Given the description of an element on the screen output the (x, y) to click on. 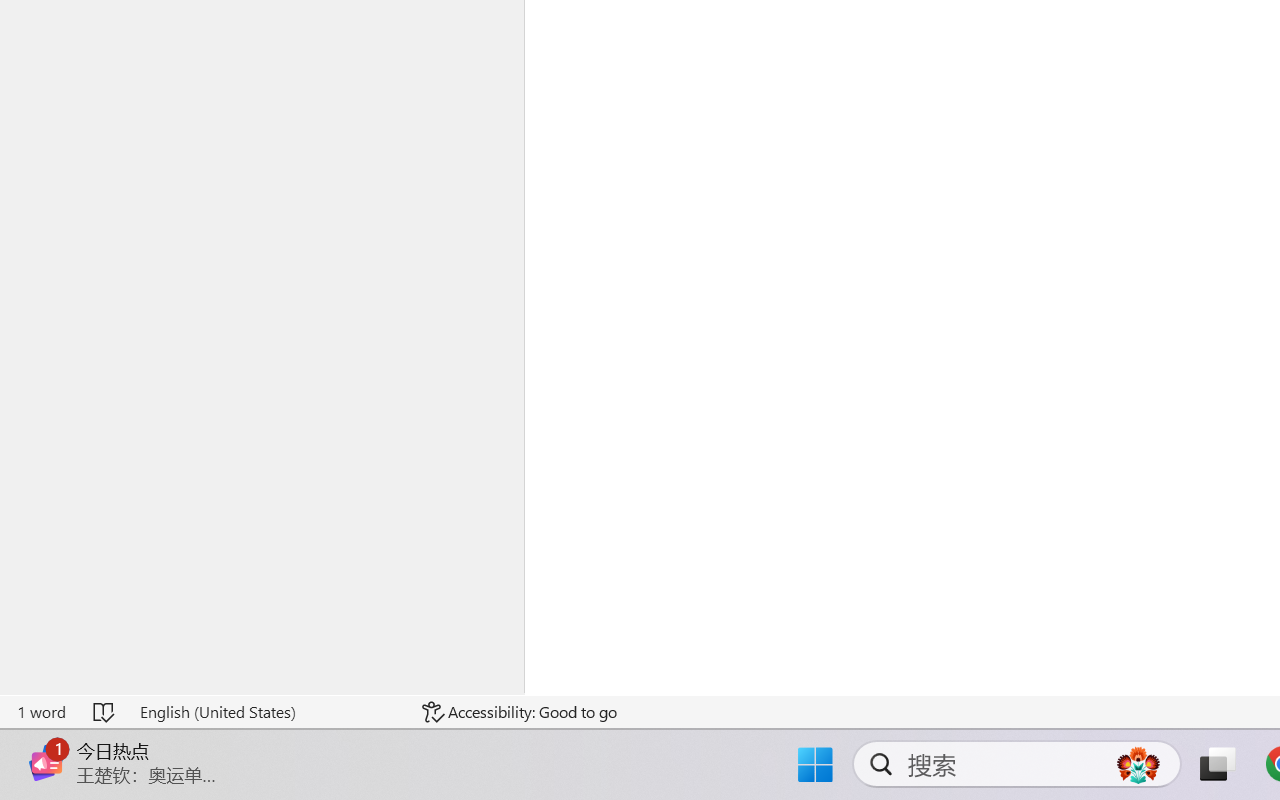
Accessibility Checker Accessibility: Good to go (519, 712)
AutomationID: DynamicSearchBoxGleamImage (1138, 764)
Spelling and Grammar Check No Errors (105, 712)
Language English (United States) (267, 712)
Word Count 1 word (41, 712)
Class: Image (46, 762)
